Given the description of an element on the screen output the (x, y) to click on. 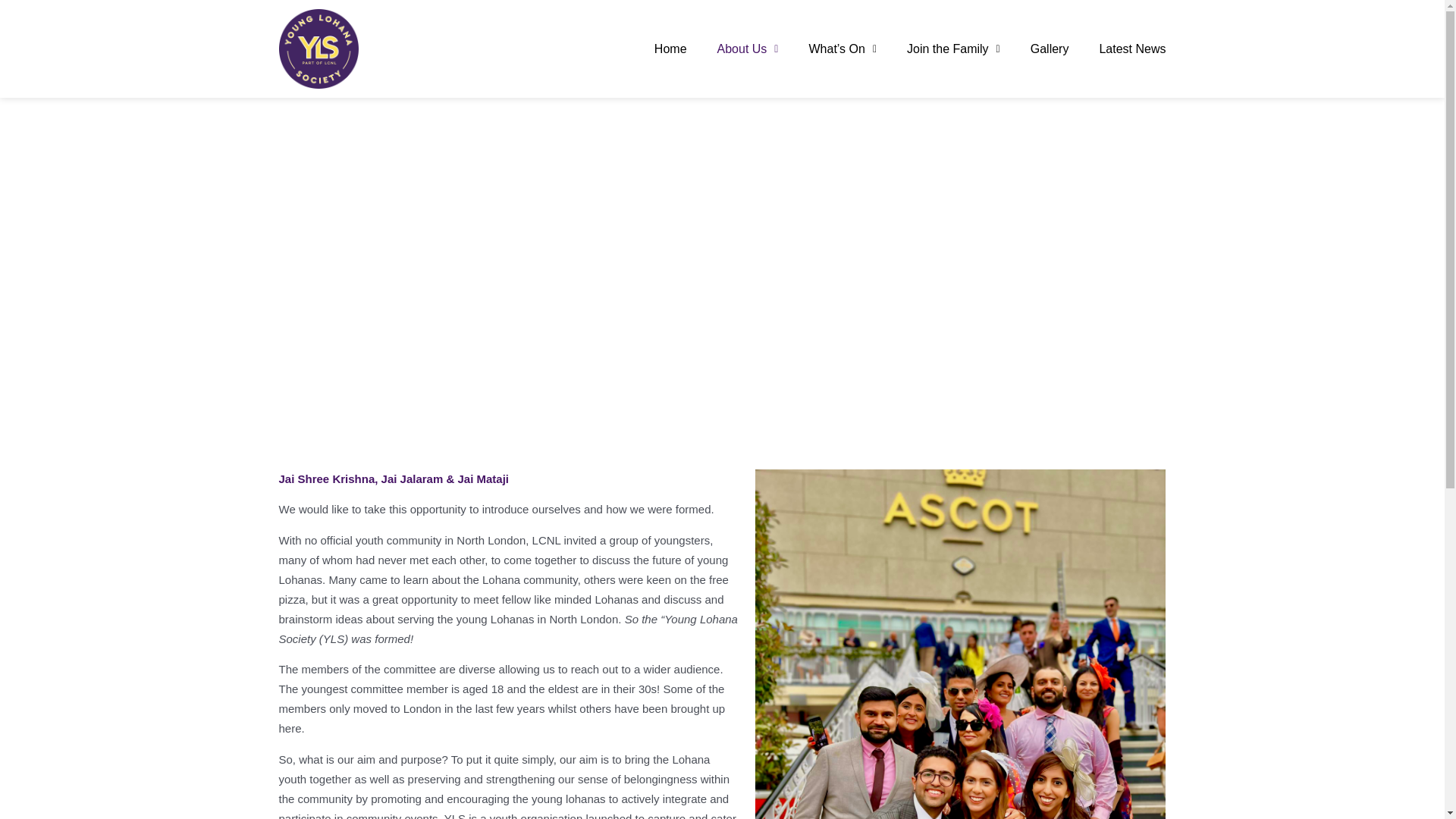
Latest News (1132, 48)
Home (670, 48)
Gallery (1049, 48)
About YLSNL (722, 249)
About Us (747, 48)
Join the Family (953, 48)
